Given the description of an element on the screen output the (x, y) to click on. 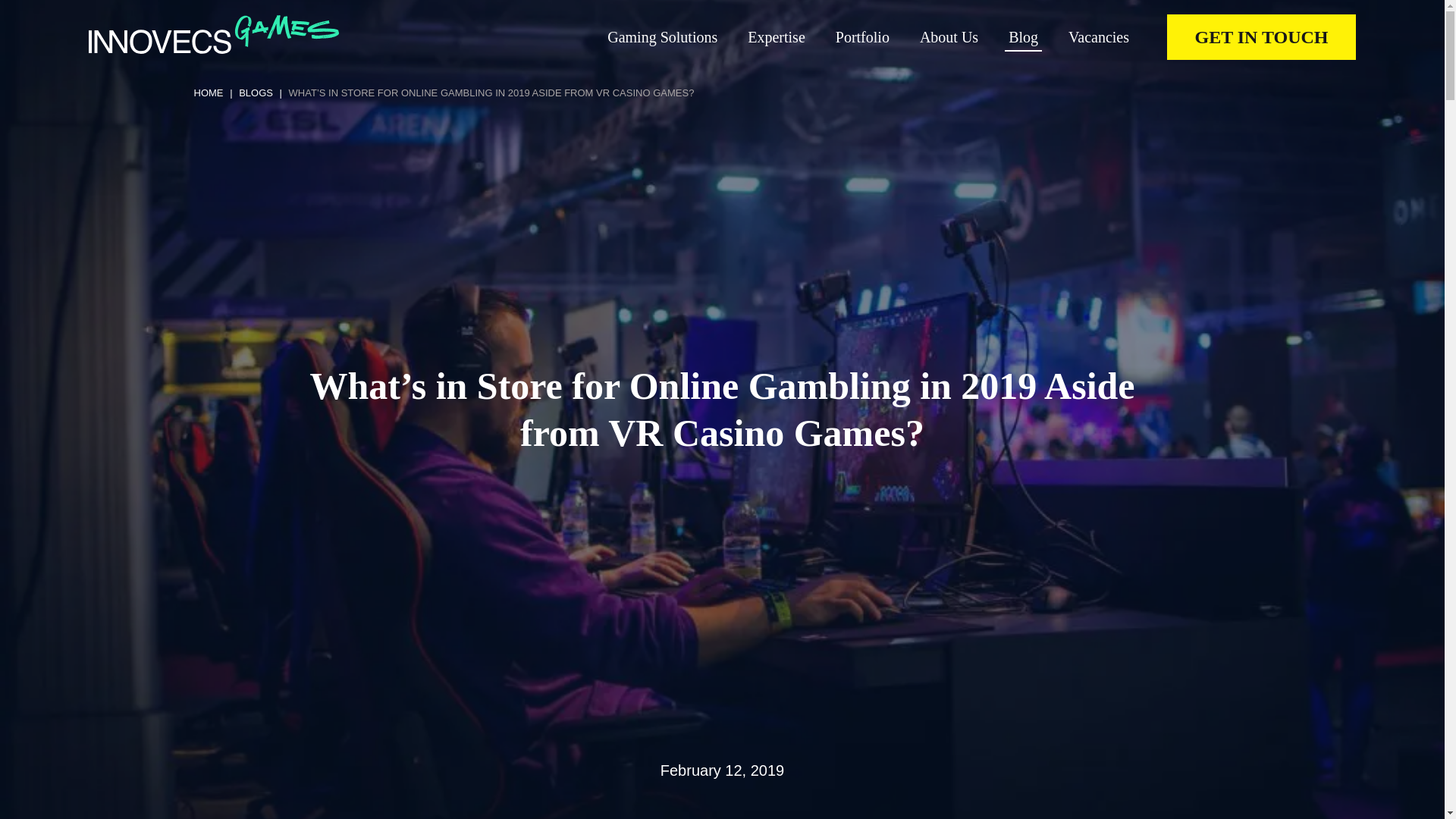
BLOGS (255, 92)
Expertise (776, 36)
About Us (949, 36)
Portfolio (862, 36)
Gaming Solutions (662, 36)
HOME (208, 92)
Vacancies (1098, 36)
Blog (1023, 36)
